Given the description of an element on the screen output the (x, y) to click on. 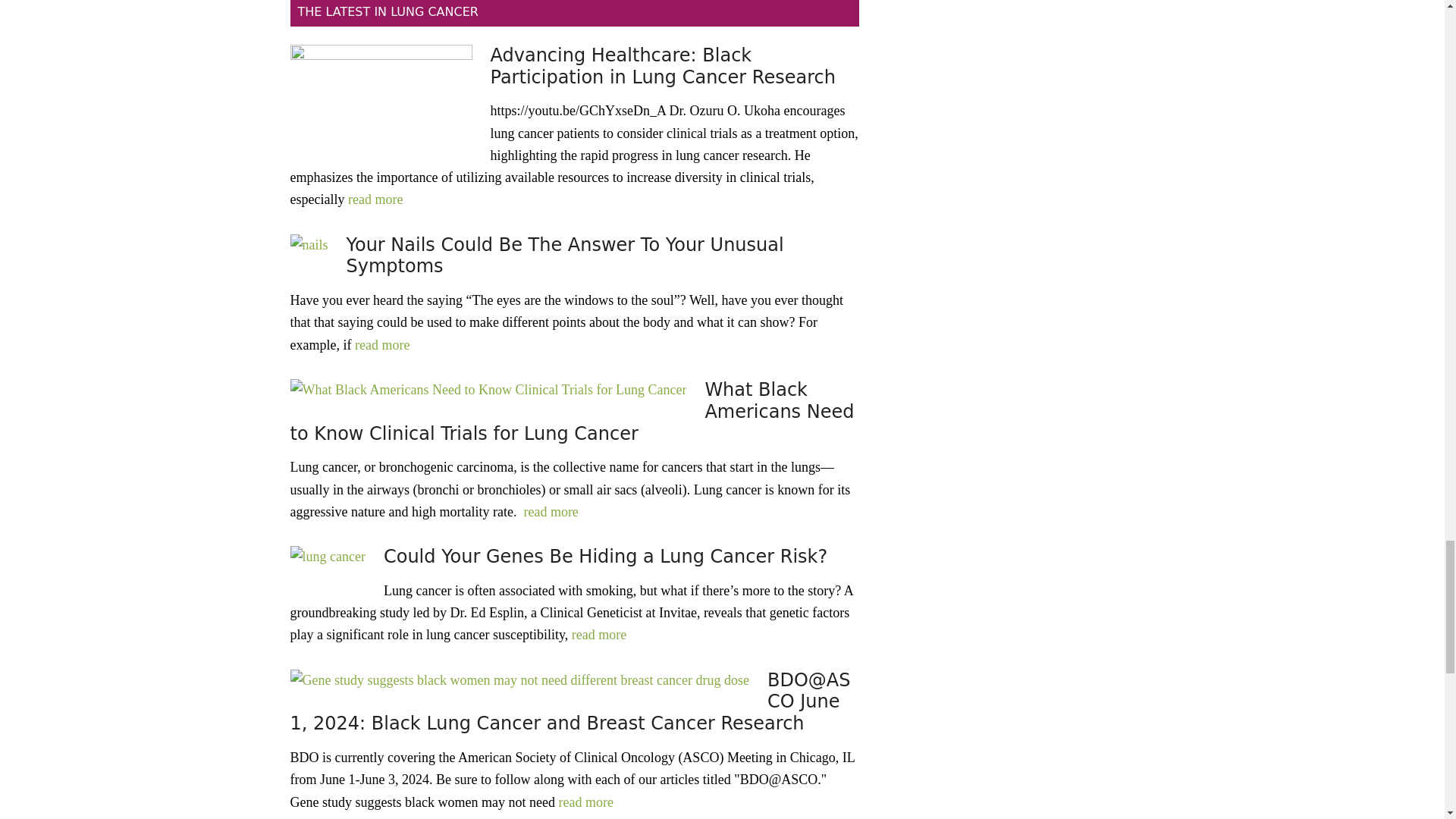
Your Nails Could Be The Answer To Your Unusual Symptoms (564, 255)
